Given the description of an element on the screen output the (x, y) to click on. 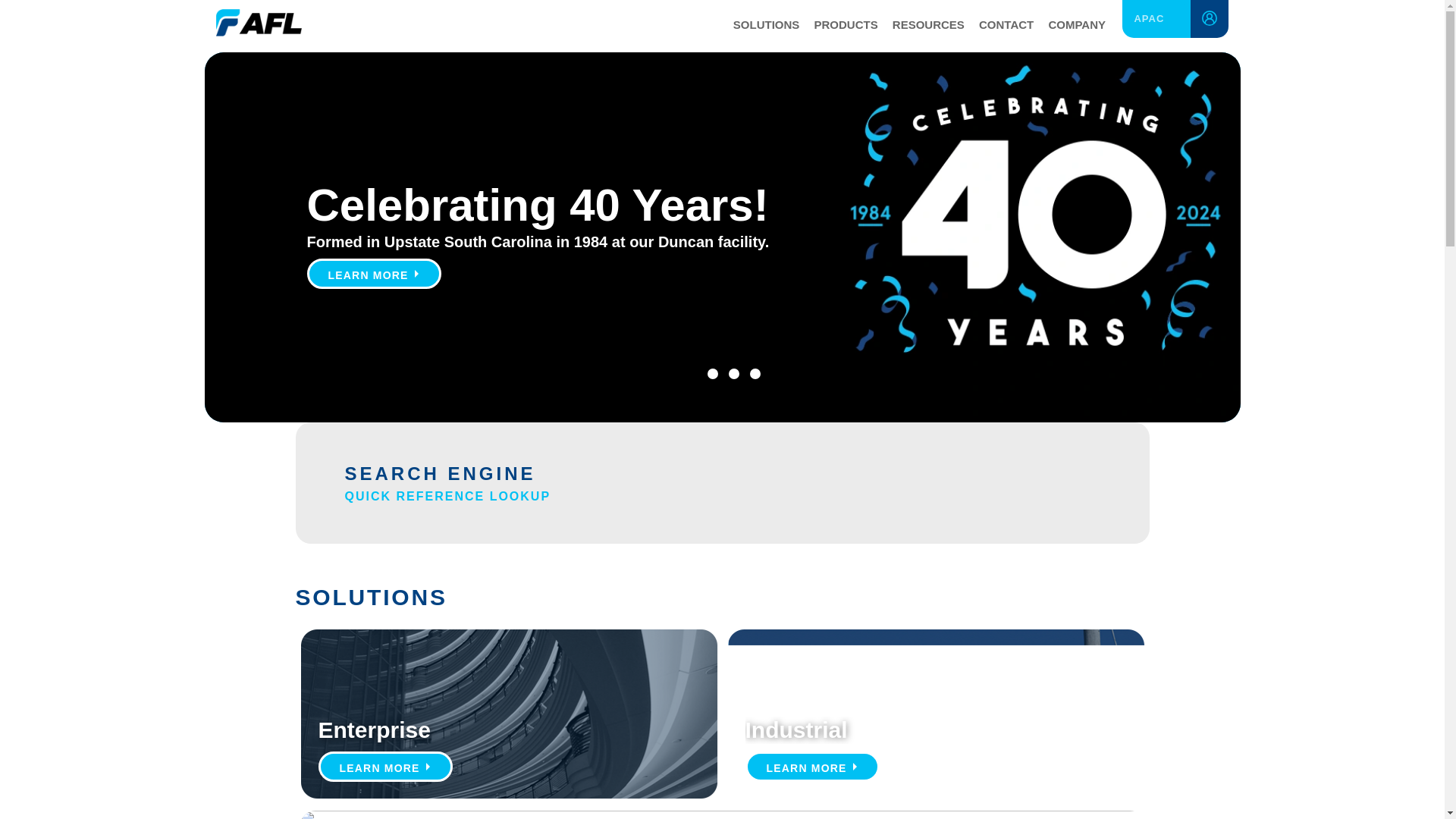
Products (845, 25)
SOLUTIONS (766, 25)
Solutions (766, 25)
PRODUCTS (845, 25)
Logo (258, 20)
